Given the description of an element on the screen output the (x, y) to click on. 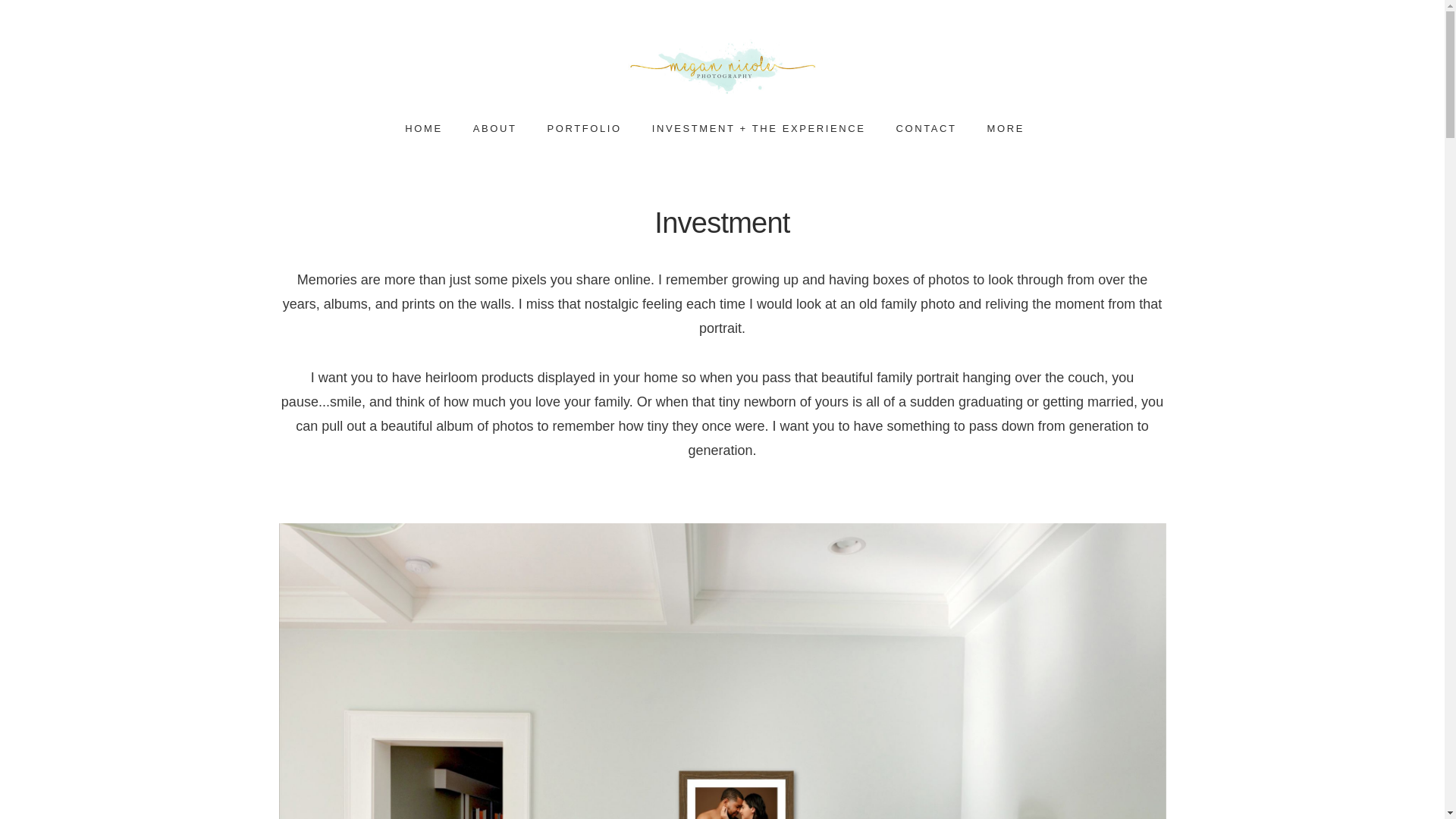
PORTFOLIO (583, 128)
CONTACT (925, 128)
HOME (423, 128)
ABOUT (494, 128)
MORE (1012, 128)
